Given the description of an element on the screen output the (x, y) to click on. 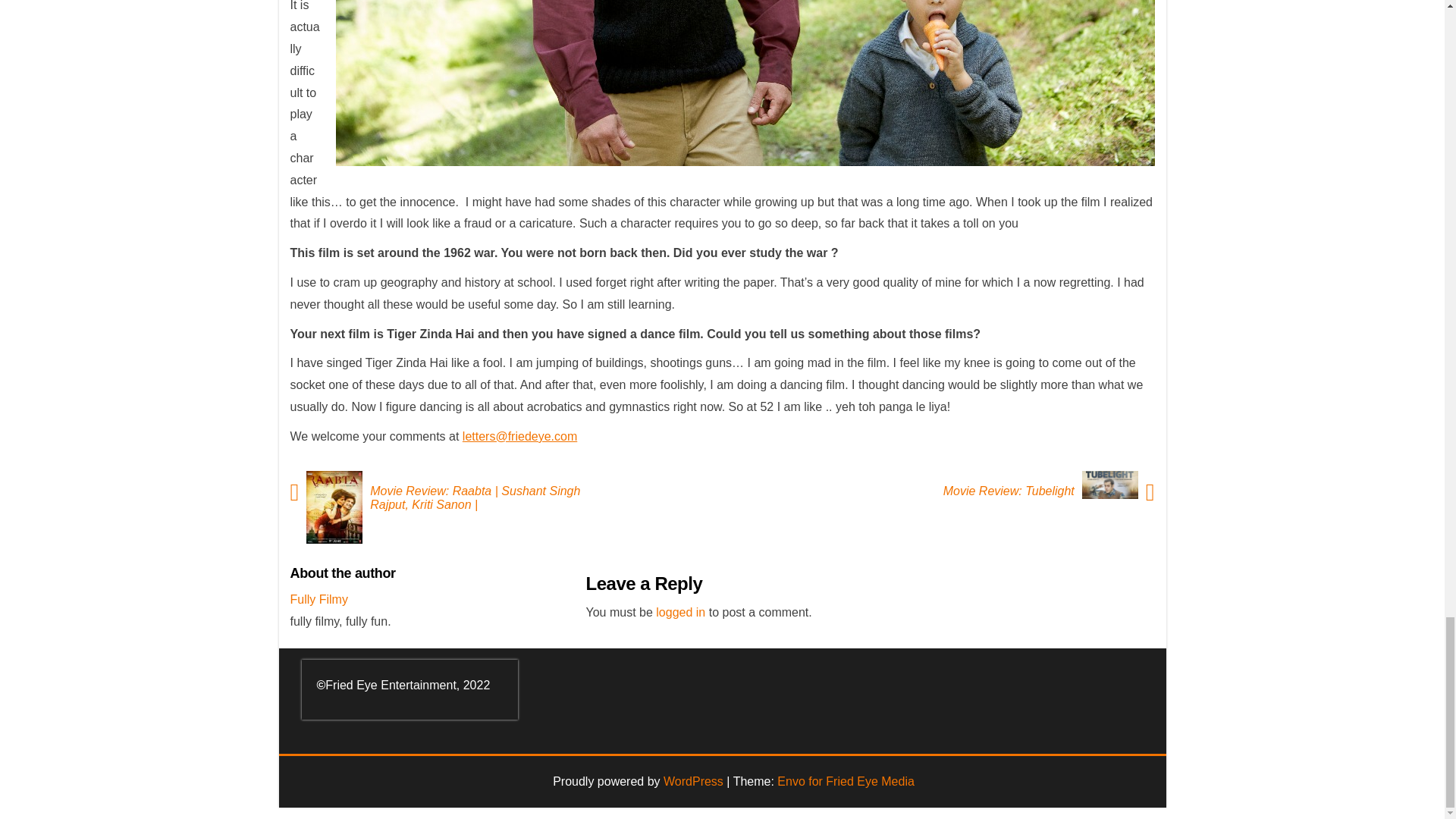
Movie Review: Tubelight (1005, 490)
logged in (680, 612)
Fully Filmy (318, 599)
WordPress (693, 780)
Envo for Fried Eye Media (845, 780)
